Given the description of an element on the screen output the (x, y) to click on. 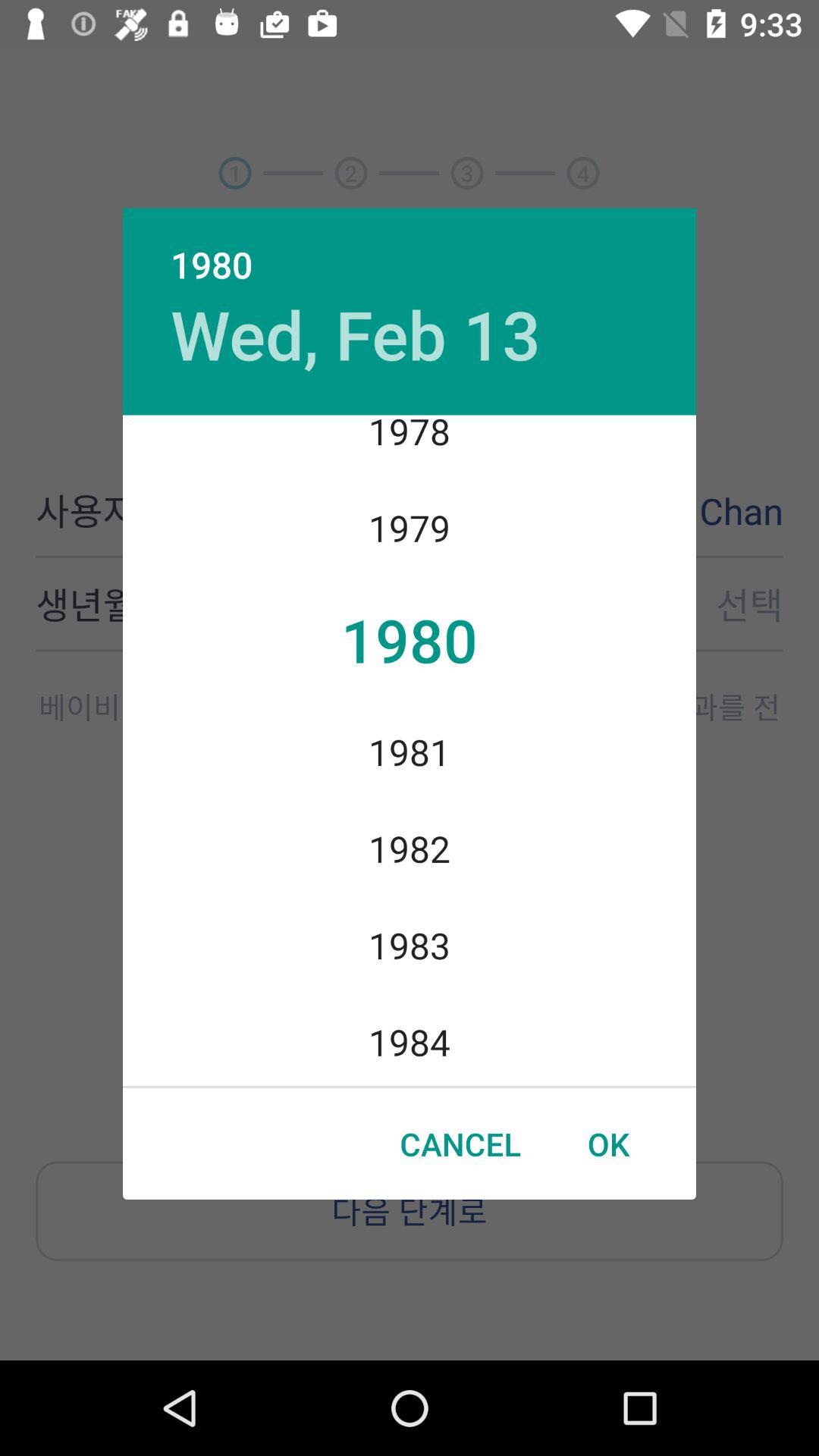
jump to the wed, feb 13 (355, 333)
